Given the description of an element on the screen output the (x, y) to click on. 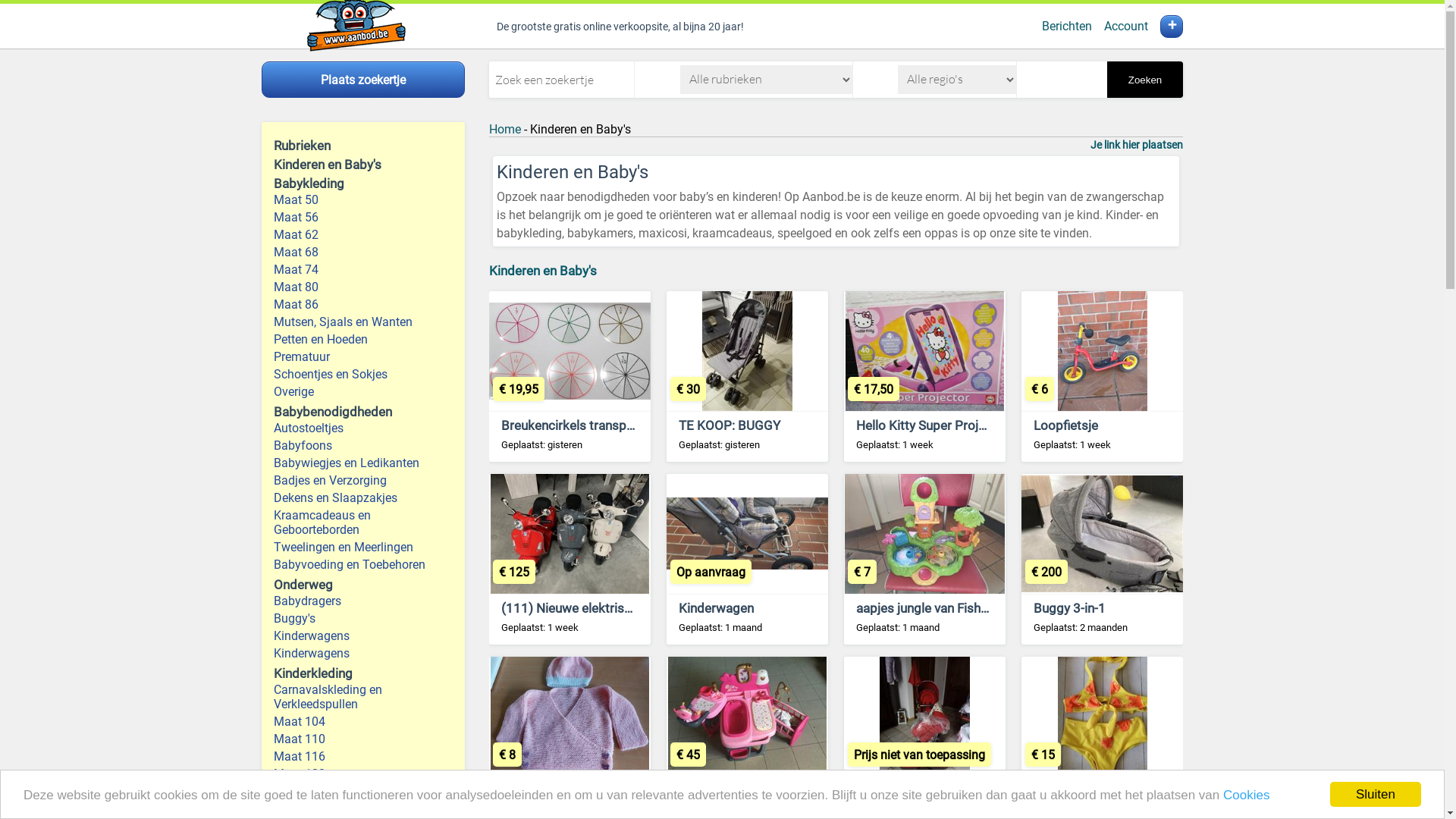
Babywiegjes en Ledikanten Element type: text (362, 462)
Autostoeltjes Element type: text (362, 427)
Maat 74 Element type: text (362, 269)
Kinderen en Baby's Element type: text (542, 270)
Account Element type: text (1126, 25)
Kinderwagens Element type: text (362, 653)
Kinderwagen Element type: text (715, 607)
Truitje baby 0-3 maanden Element type: text (573, 789)
Prachtige Gele Bikini met Paillettes 4/6 Jaar Element type: text (1159, 789)
Maat 62 Element type: text (362, 234)
Cookies Element type: text (1246, 794)
Berichten Element type: text (1066, 25)
Home Element type: text (504, 129)
Mutsen, Sjaals en Wanten Element type: text (362, 321)
Zoeken Element type: text (1145, 79)
Baby Nurse van Smoby te koop Element type: text (767, 789)
Badjes en Verzorging Element type: text (362, 480)
Tweelingen en Meerlingen Element type: text (362, 546)
TE KOOP: BUGGY Element type: text (729, 424)
Maat 134 Element type: text (362, 808)
Petten en Hoeden Element type: text (362, 339)
Loopfietsje Element type: text (1065, 424)
Maat 56 Element type: text (362, 216)
Hello Kitty Super Projector Element type: text (932, 424)
Carnavalskleding en Verkleedspullen Element type: text (362, 696)
Breukencirkels transparant, Voordeelset: 10 sets van 12 stuk Element type: text (675, 424)
Kinderwagen
Geplaatst: 1 maand
Op aanvraag Element type: text (747, 558)
+ Element type: text (1171, 26)
Je link hier plaatsen Element type: text (1136, 144)
Babyfoons Element type: text (362, 445)
Wandelwagen merk stokke Element type: text (933, 789)
Plaats zoekertje Element type: text (362, 79)
Maat 122 Element type: text (362, 773)
Kinderwagens Element type: text (362, 635)
Maat 80 Element type: text (362, 286)
Sluiten Element type: text (1375, 793)
Maat 110 Element type: text (362, 738)
Buggy's Element type: text (362, 618)
Maat 104 Element type: text (362, 721)
Schoentjes en Sokjes Element type: text (362, 373)
Maat 86 Element type: text (362, 304)
Overige Element type: text (362, 391)
Maat 128 Element type: text (362, 791)
Babydragers Element type: text (362, 600)
(111) Nieuwe elektrische kinderscooter vespa Element type: text (633, 607)
Prematuur Element type: text (362, 356)
Maat 50 Element type: text (362, 199)
Dekens en Slaapzakjes Element type: text (362, 497)
aapjes jungle van Fisher Price Element type: text (940, 607)
Maat 116 Element type: text (362, 756)
Kraamcadeaus en Geboorteborden Element type: text (362, 522)
Babyvoeding en Toebehoren Element type: text (362, 564)
Buggy 3-in-1 Element type: text (1069, 607)
Maat 68 Element type: text (362, 251)
